Given the description of an element on the screen output the (x, y) to click on. 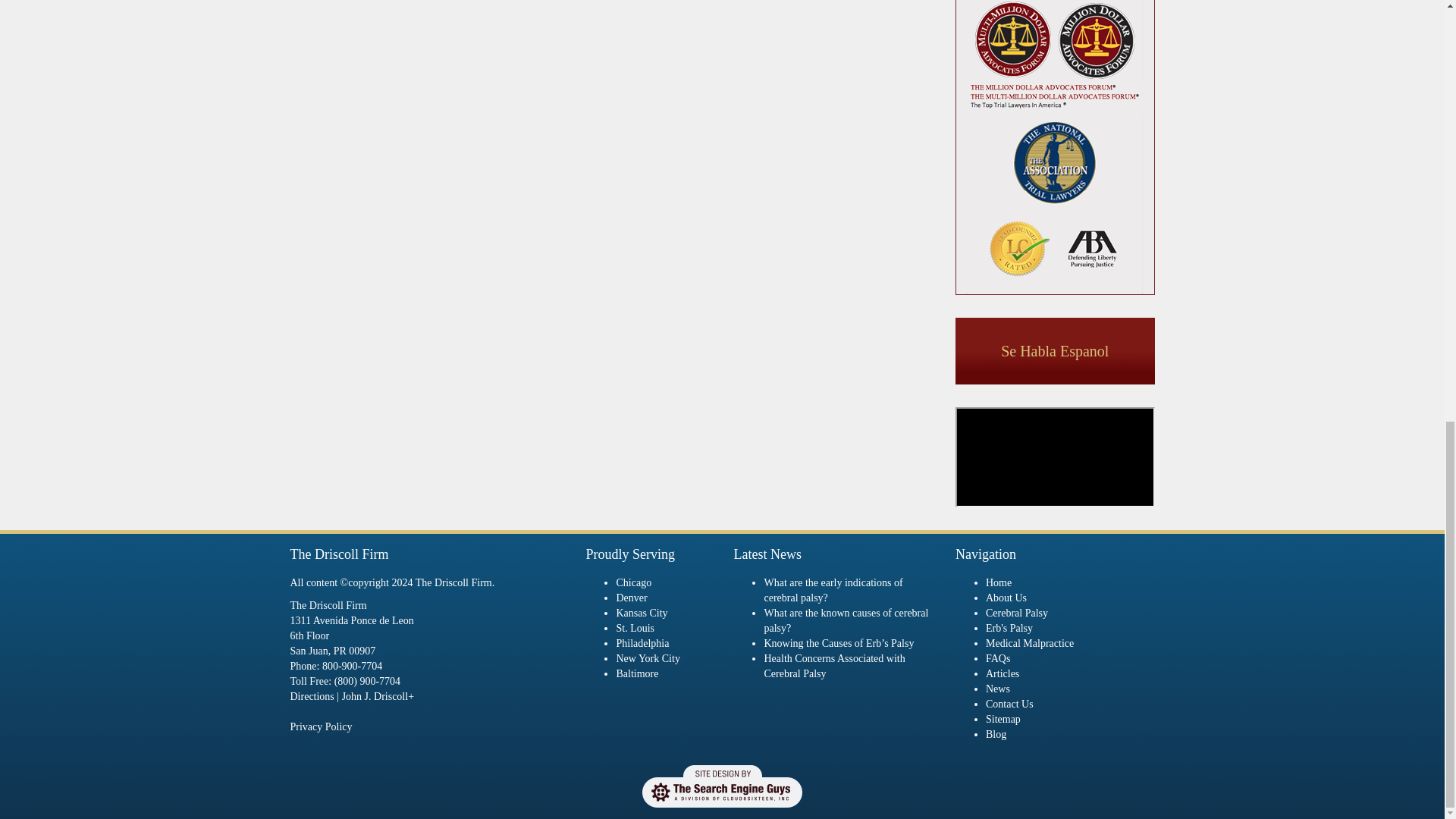
Denver (630, 597)
St. Louis (634, 627)
Kansas City (640, 613)
Se Habla Espanol (1054, 350)
SEO by TSEG (722, 785)
Look What are the known causes of cerebral palsy? (845, 620)
Chicago (632, 582)
Look What are the early indications of cerebral palsy? (832, 590)
Privacy Policy (320, 726)
Look Health Concerns Associated with Cerebral Palsy (833, 665)
Directions (311, 696)
